Given the description of an element on the screen output the (x, y) to click on. 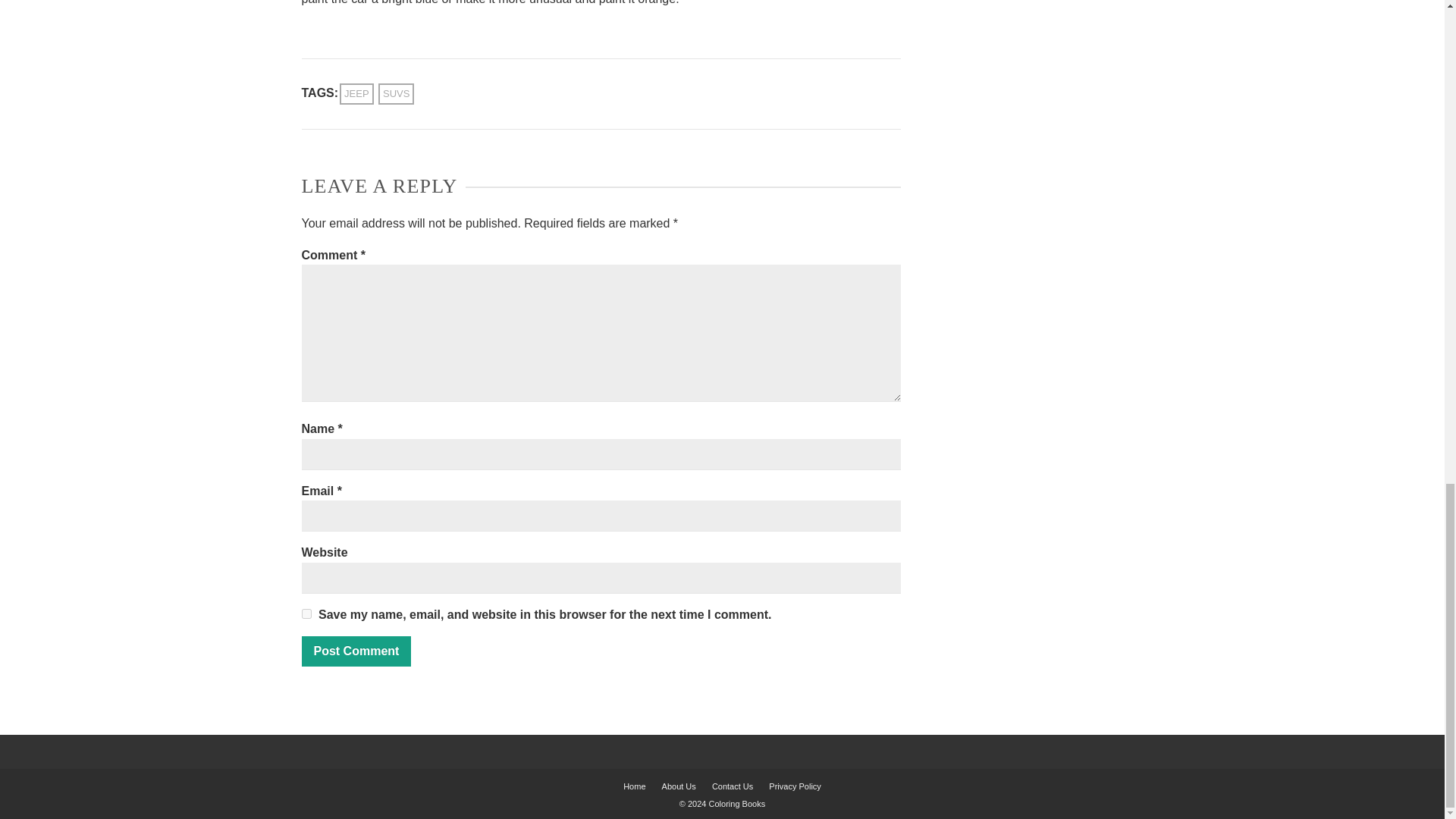
JEEP (356, 93)
yes (306, 614)
SUVS (395, 93)
Post Comment (356, 651)
Post Comment (356, 651)
